Given the description of an element on the screen output the (x, y) to click on. 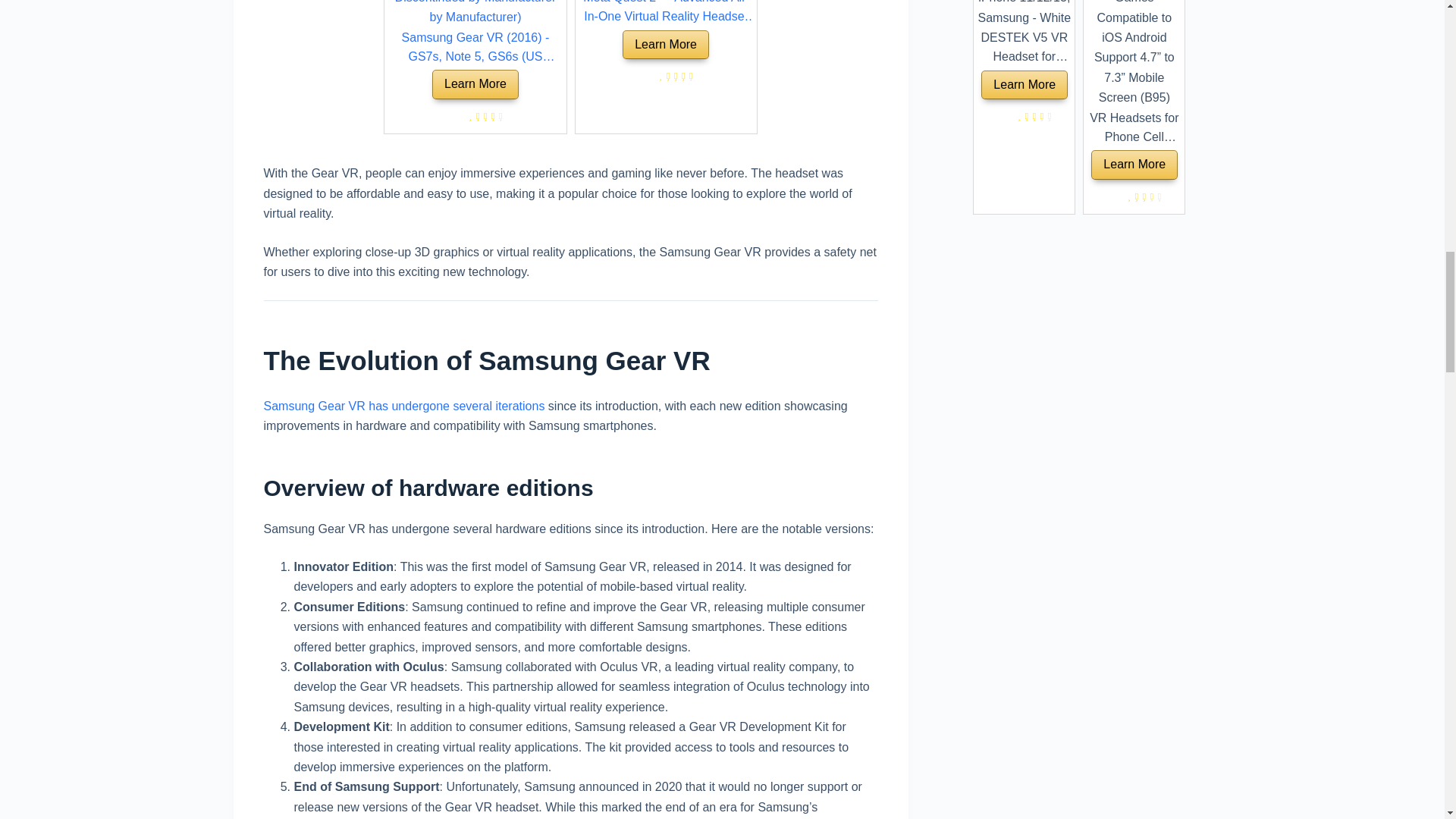
Samsung Gear VR has undergone several iterations (403, 405)
4.1 de 5 (498, 116)
4.7 de 5 (665, 76)
4.1 de 5 (491, 116)
4.7 de 5 (673, 76)
4.7 de 5 (689, 76)
4.1 de 5 (483, 116)
4.1 de 5 (467, 116)
4.7 de 5 (681, 76)
4.1 de 5 (475, 116)
